Given the description of an element on the screen output the (x, y) to click on. 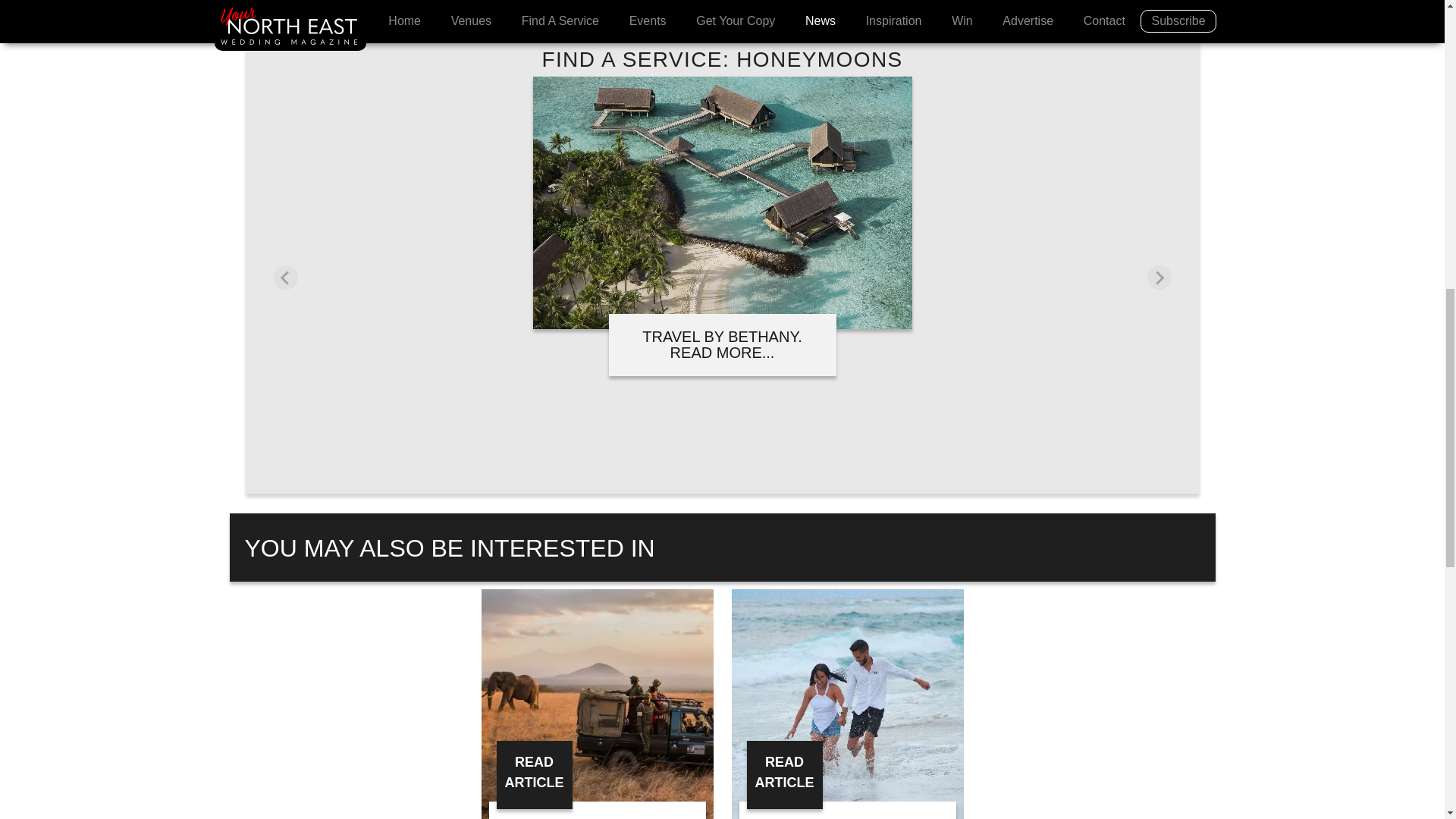
TRAVEL BY BETHANY. READ MORE... (722, 344)
FIND A SERVICE: HONEYMOONS (721, 59)
Product by Travel by Bethany (721, 318)
